Given the description of an element on the screen output the (x, y) to click on. 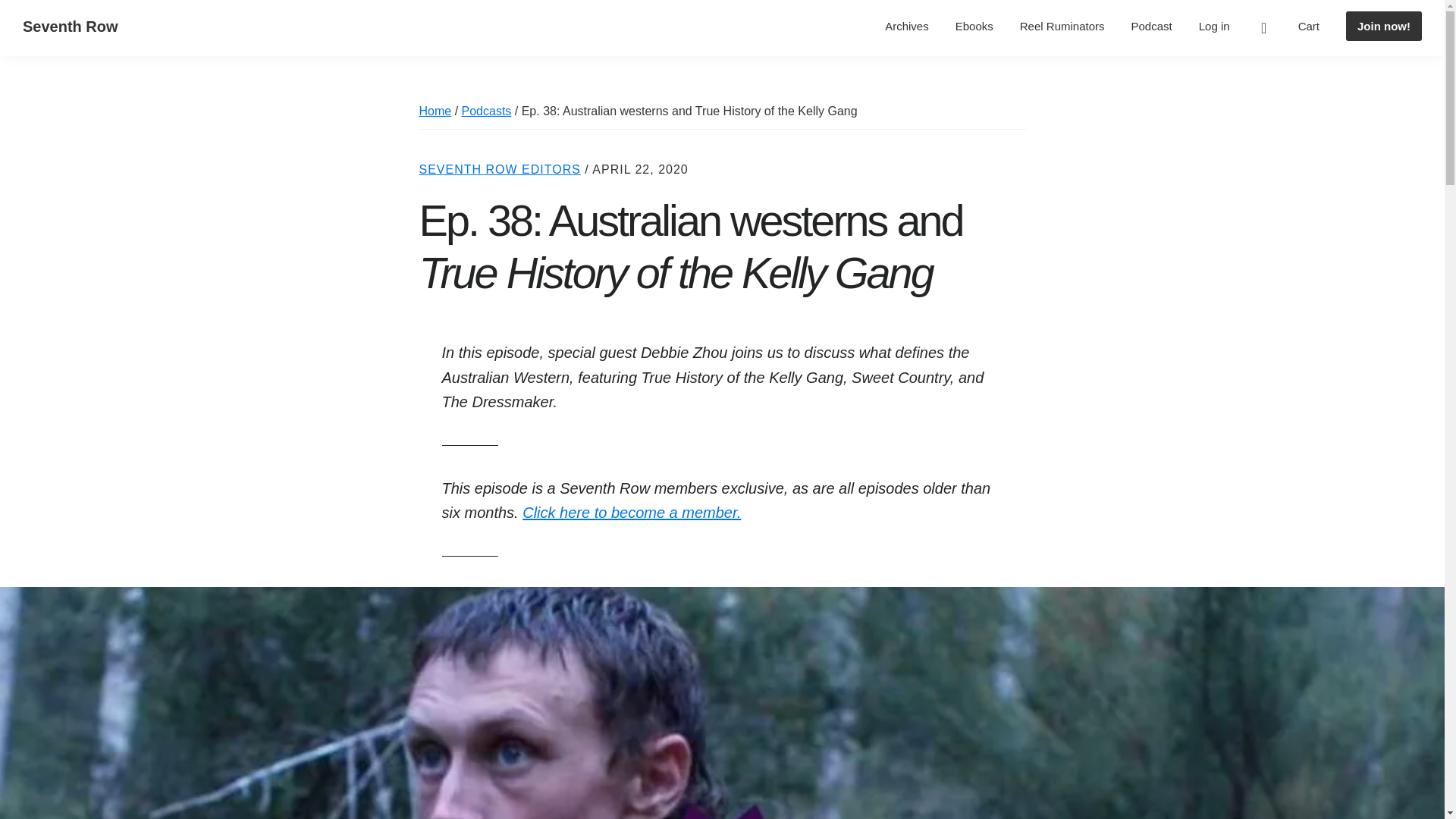
Home (435, 110)
Reel Ruminators (1062, 25)
Podcast (1151, 25)
Search (1263, 28)
Seventh Row (70, 26)
Log in (1214, 25)
Archives (906, 25)
Join now! (1383, 25)
Cart (1308, 25)
